Given the description of an element on the screen output the (x, y) to click on. 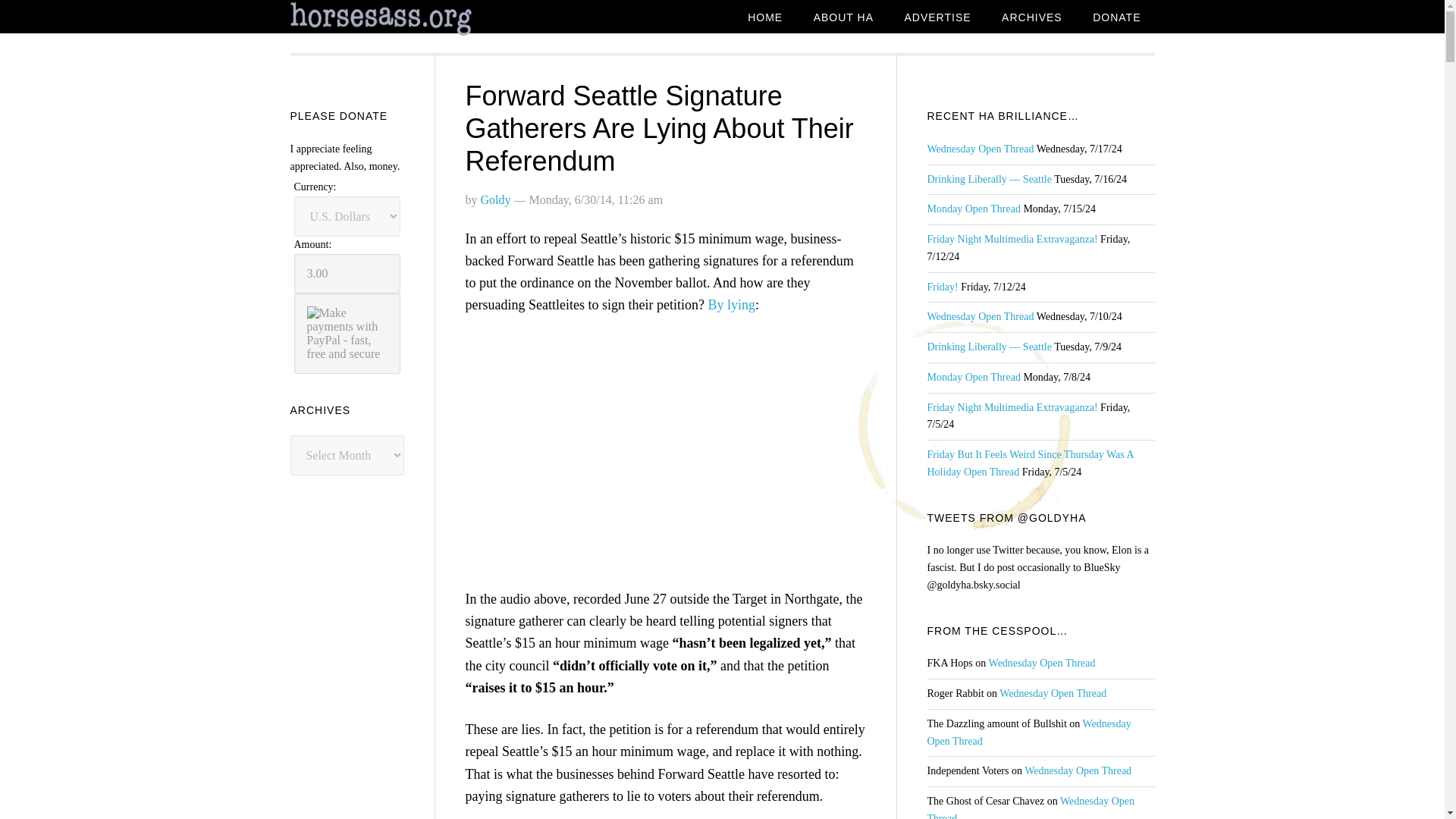
ADVERTISE (936, 17)
Goldy (495, 199)
3.00 (347, 273)
ARCHIVES (1031, 17)
HORSESASS.ORG (410, 19)
The amount you wish to donate (347, 273)
By lying (731, 304)
HOME (764, 17)
DONATE (1116, 17)
ABOUT HA (842, 17)
